Given the description of an element on the screen output the (x, y) to click on. 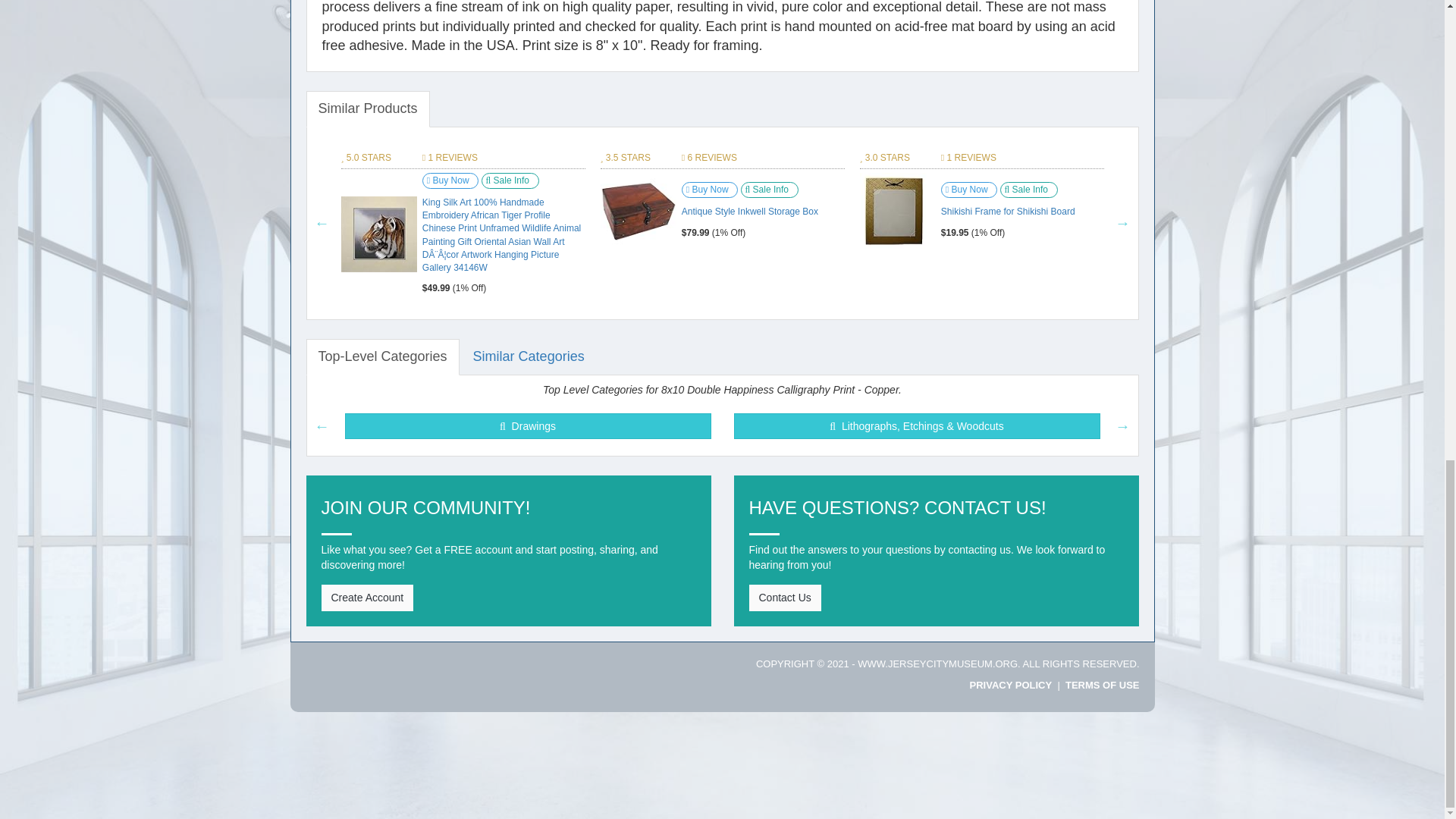
Sale Info   (509, 180)
Similar Products (367, 108)
Buy Now   (450, 180)
Previous (321, 222)
Shikishi Frame for Shikishi Board (895, 210)
Antique Style Inkwell Storage Box (638, 210)
